Given the description of an element on the screen output the (x, y) to click on. 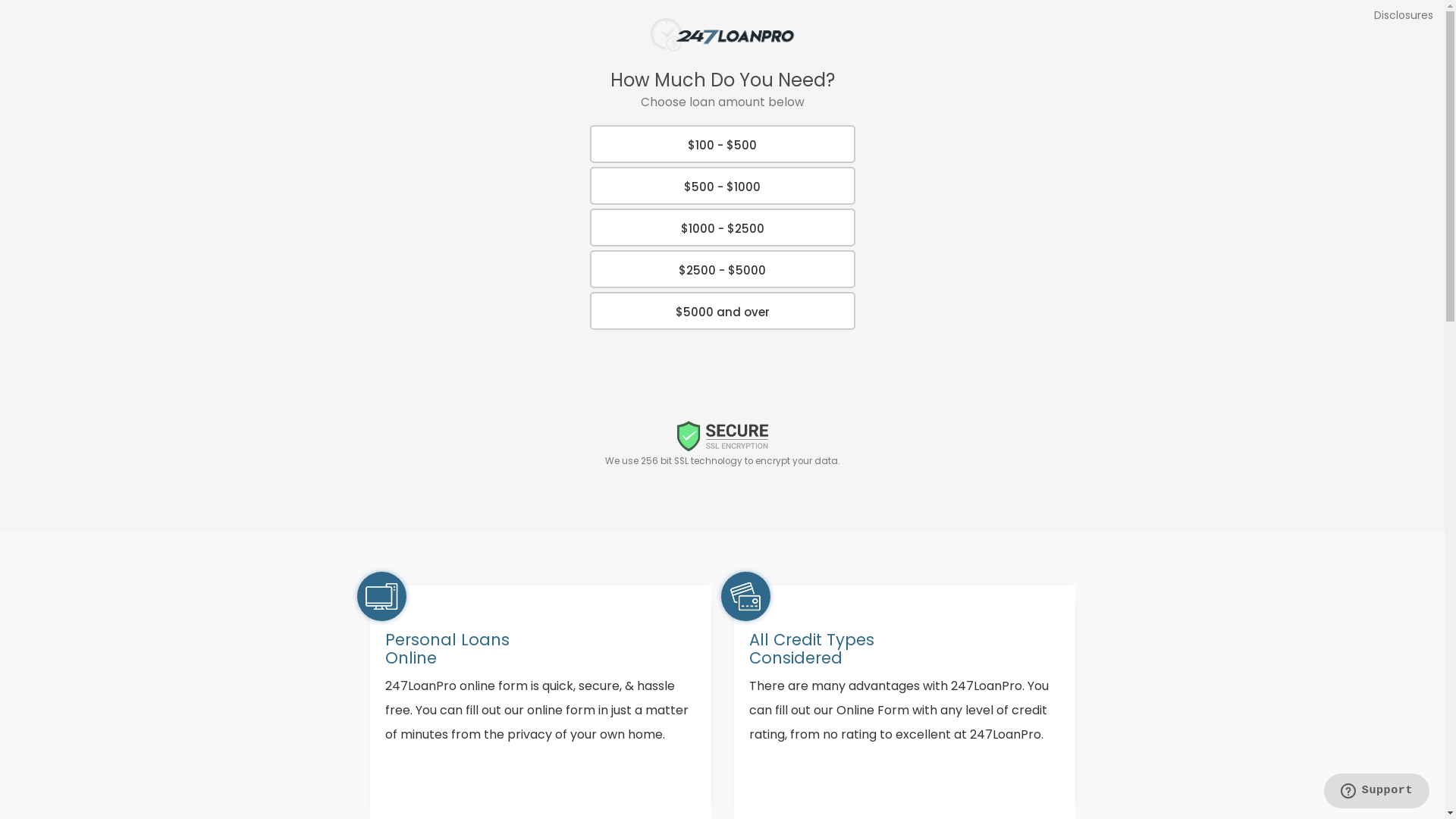
Opens a widget where you can find more information Element type: hover (1376, 792)
Disclosures Element type: text (1403, 15)
